Given the description of an element on the screen output the (x, y) to click on. 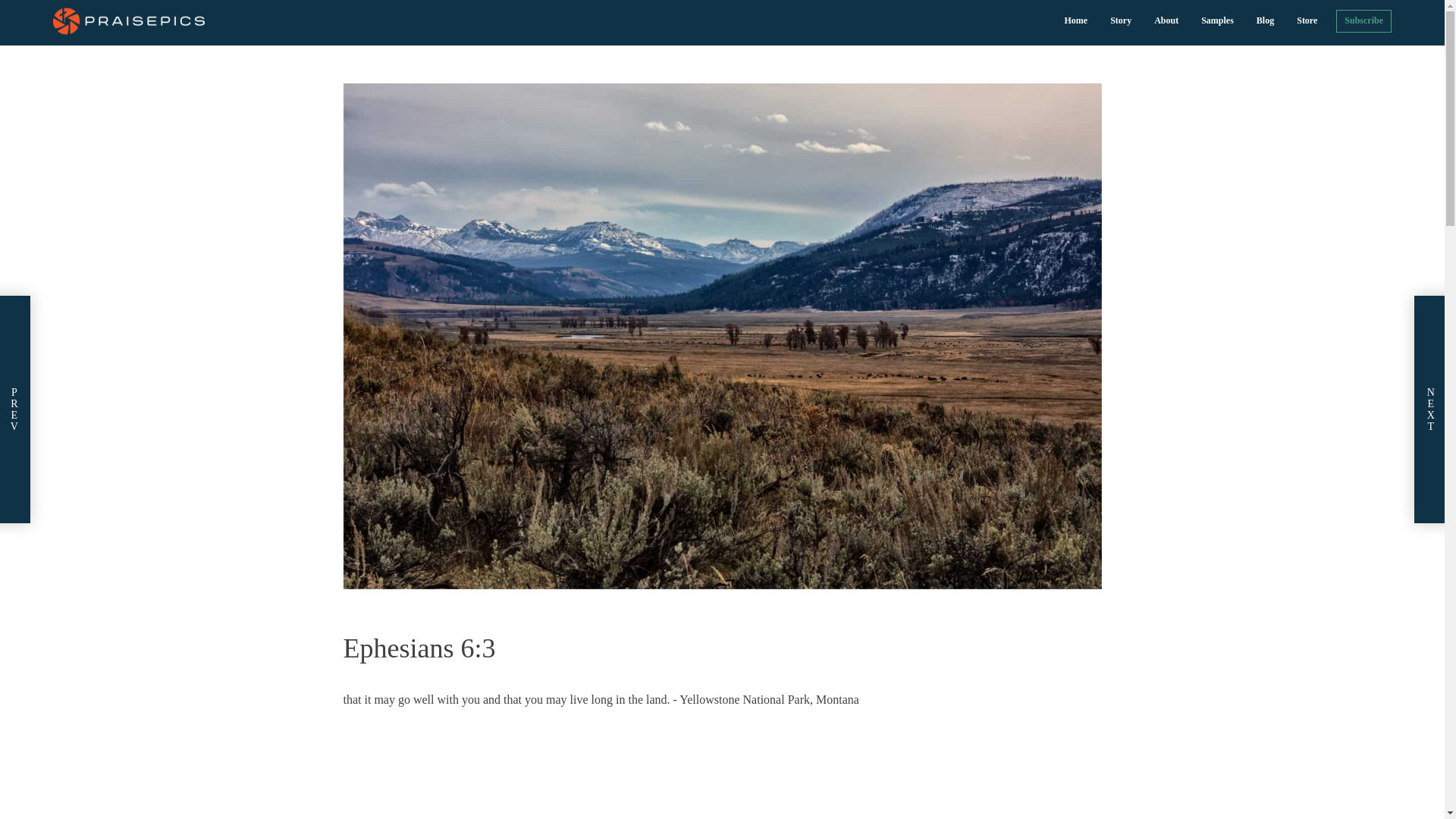
Store (1306, 20)
Subscribe (1363, 20)
Samples (1216, 20)
About (1165, 20)
Story (1120, 20)
Blog (1264, 20)
Home (1075, 20)
